Given the description of an element on the screen output the (x, y) to click on. 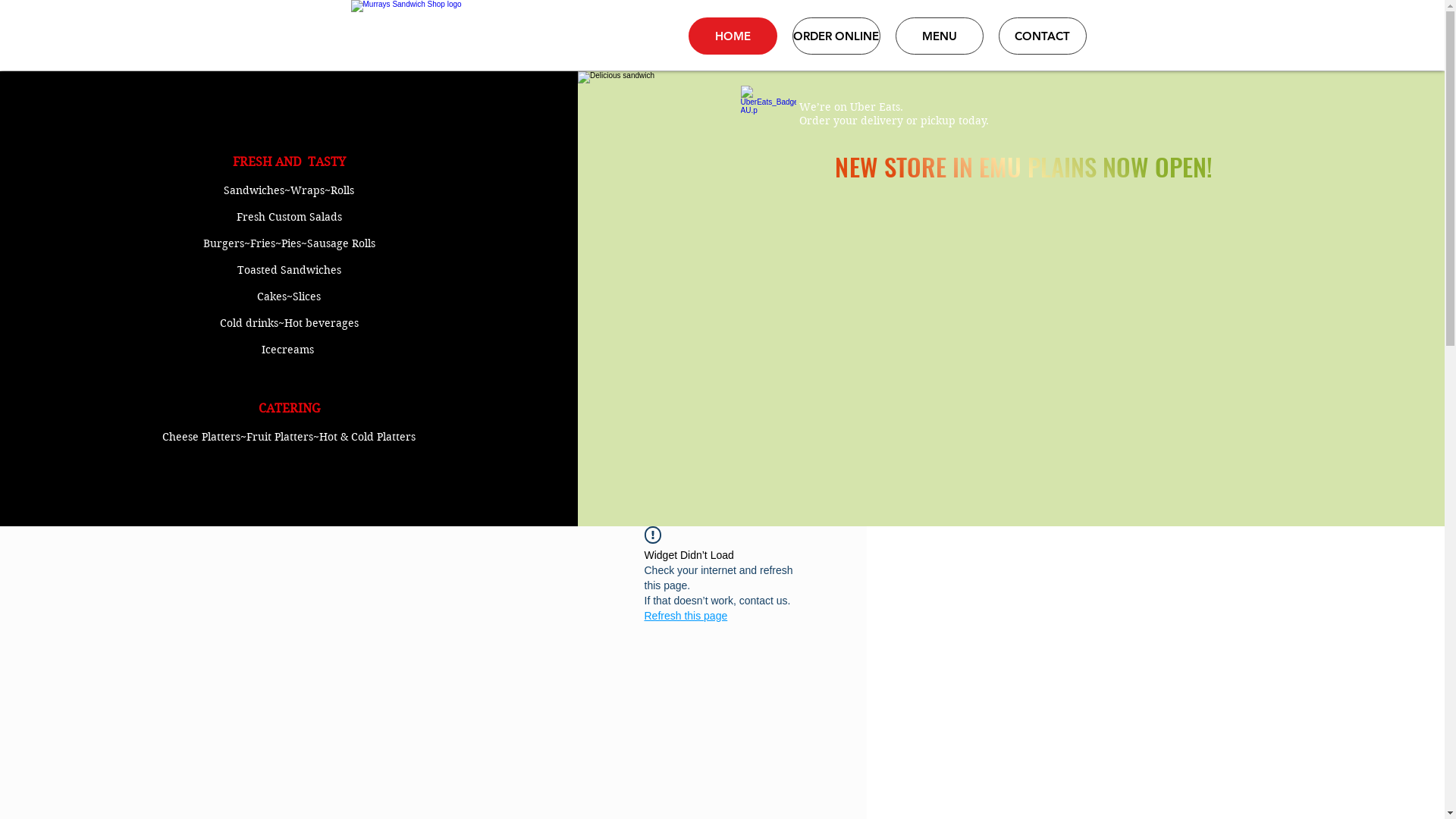
Refresh this page Element type: text (686, 615)
HOME Element type: text (732, 35)
ORDER ONLINE Element type: text (835, 35)
CONTACT Element type: text (1041, 35)
MENU Element type: text (938, 35)
